Given the description of an element on the screen output the (x, y) to click on. 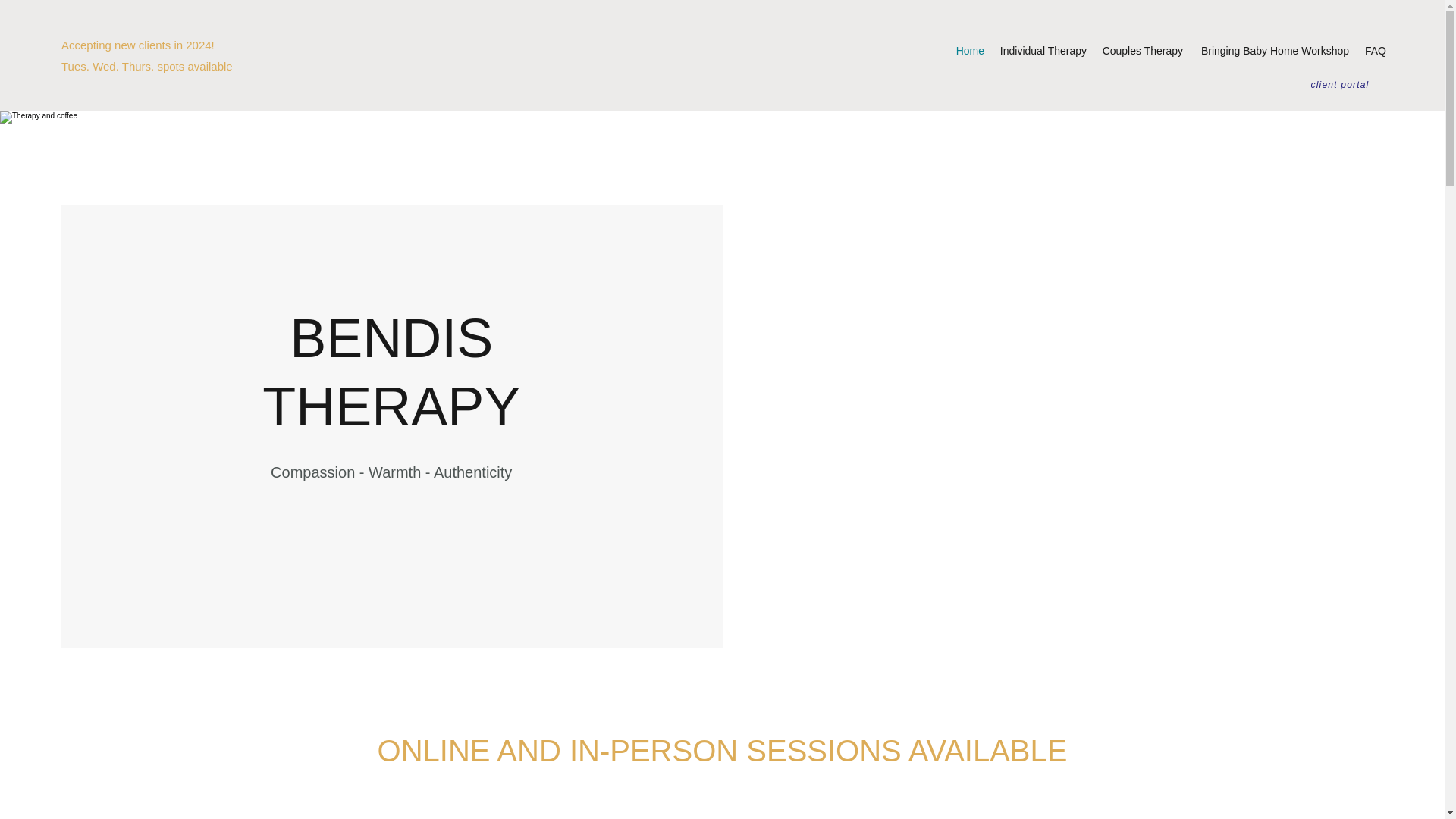
FAQ (1374, 50)
Bringing Baby Home Workshop (1273, 50)
Home (969, 50)
client portal (1339, 84)
Couples Therapy (1142, 50)
Individual Therapy (1042, 50)
